Given the description of an element on the screen output the (x, y) to click on. 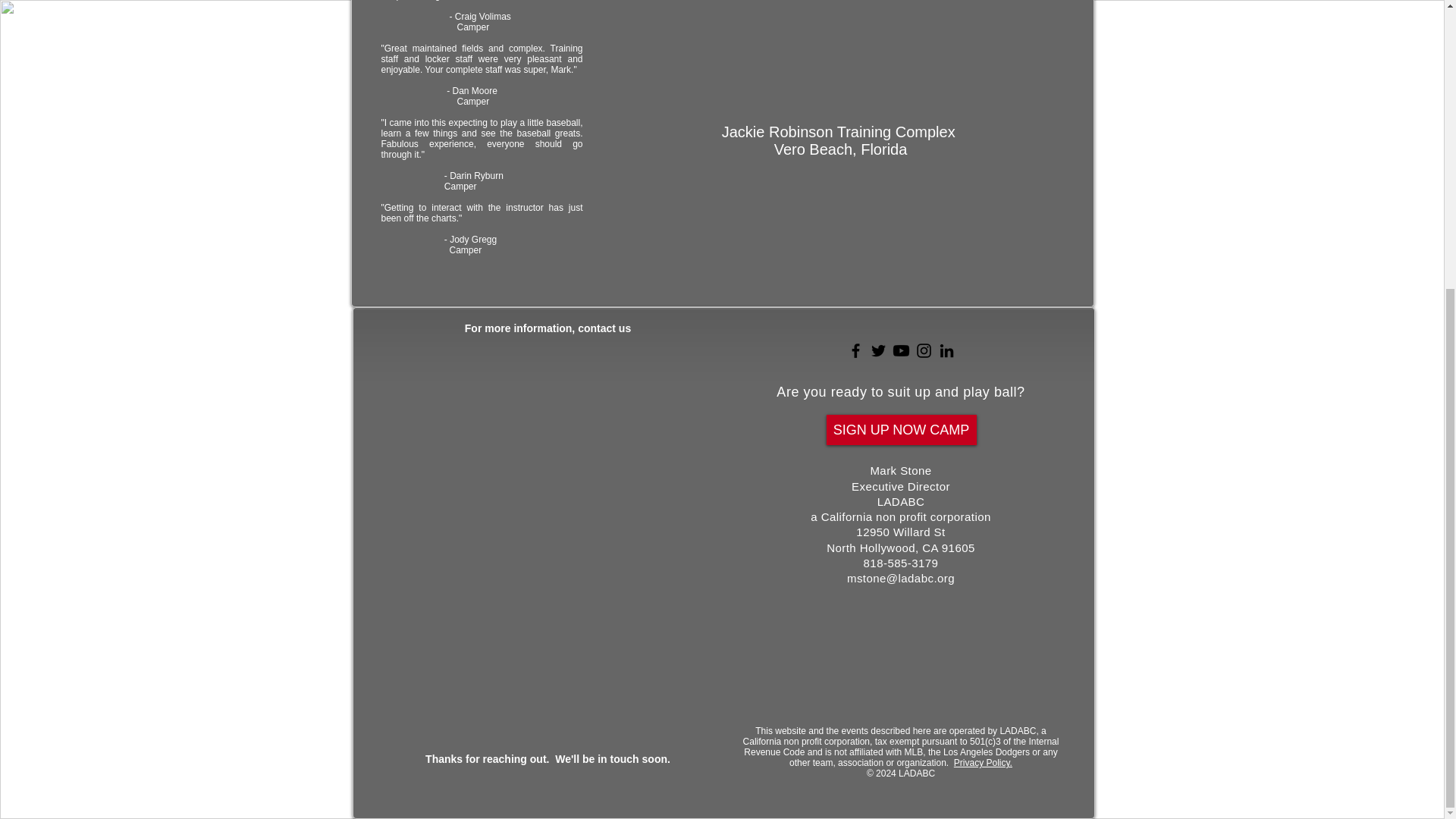
SIGN UP NOW CAMP (901, 429)
Privacy Policy. (982, 762)
External YouTube (843, 33)
